Given the description of an element on the screen output the (x, y) to click on. 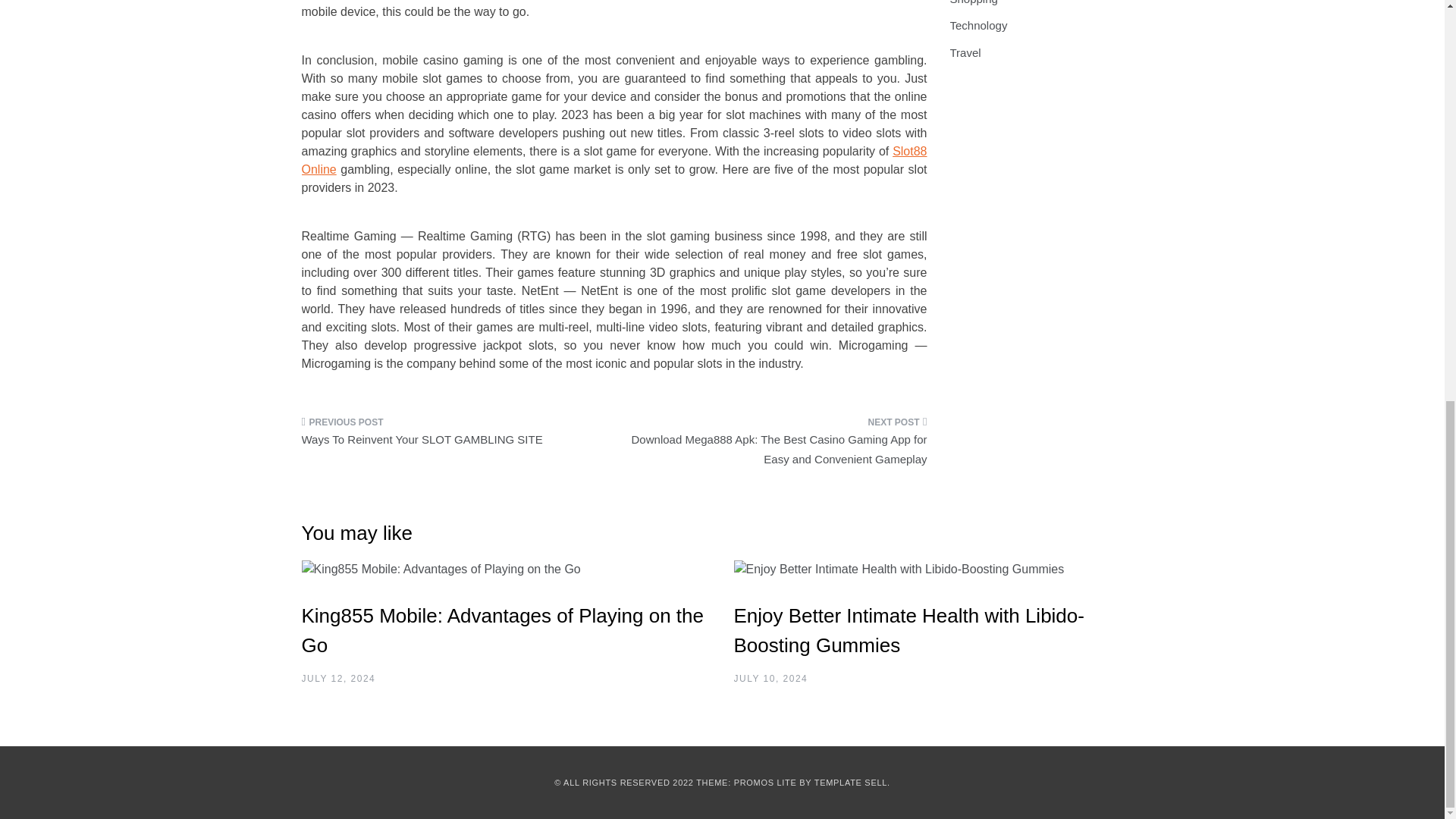
TEMPLATE SELL (849, 782)
King855 Mobile: Advantages of Playing on the Go (502, 630)
Technology (978, 24)
Slot88 Online (614, 160)
Travel (964, 51)
Shopping (973, 2)
Ways To Reinvent Your SLOT GAMBLING SITE (452, 435)
Enjoy Better Intimate Health with Libido-Boosting Gummies (908, 630)
